Given the description of an element on the screen output the (x, y) to click on. 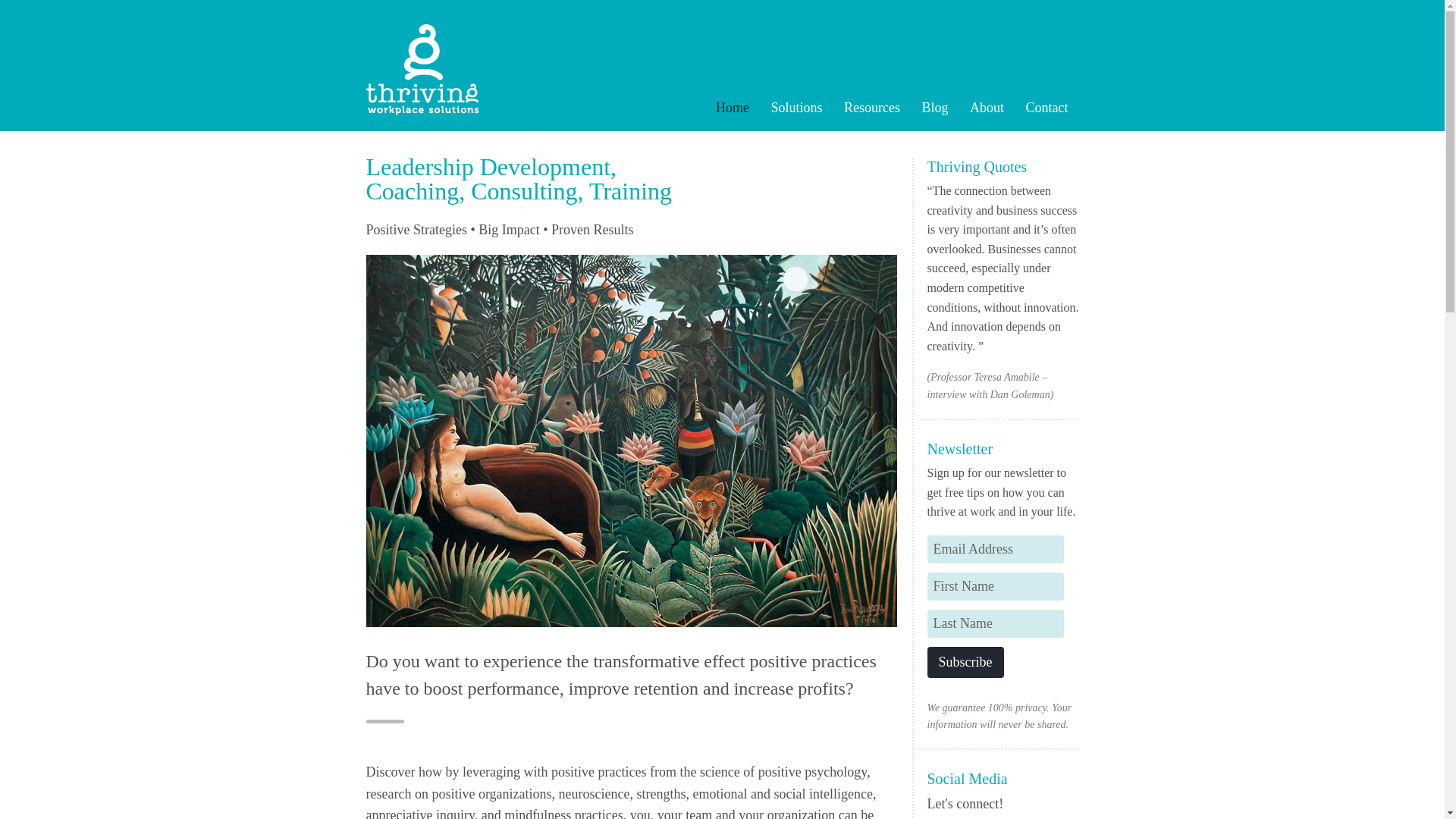
Home (741, 108)
About (995, 108)
First Name (994, 586)
Skip to content (766, 108)
Email Address (994, 549)
Subscribe (964, 662)
Contact (1055, 108)
Last Name (994, 623)
Blog (943, 108)
Resources (881, 108)
Solutions (805, 108)
Subscribe (964, 662)
